Given the description of an element on the screen output the (x, y) to click on. 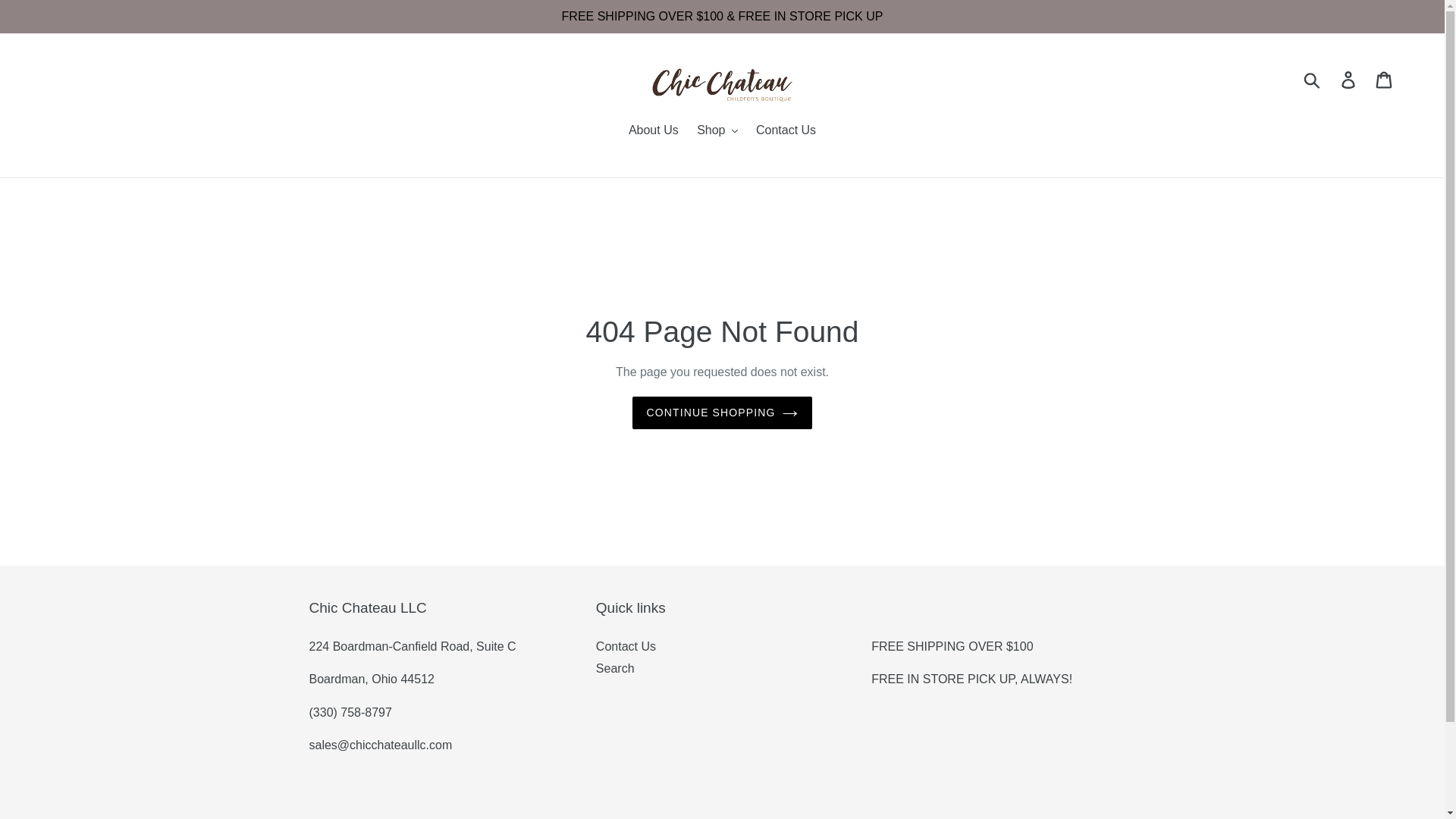
Log in (1349, 78)
Submit (1313, 78)
Cart (1385, 78)
